Given the description of an element on the screen output the (x, y) to click on. 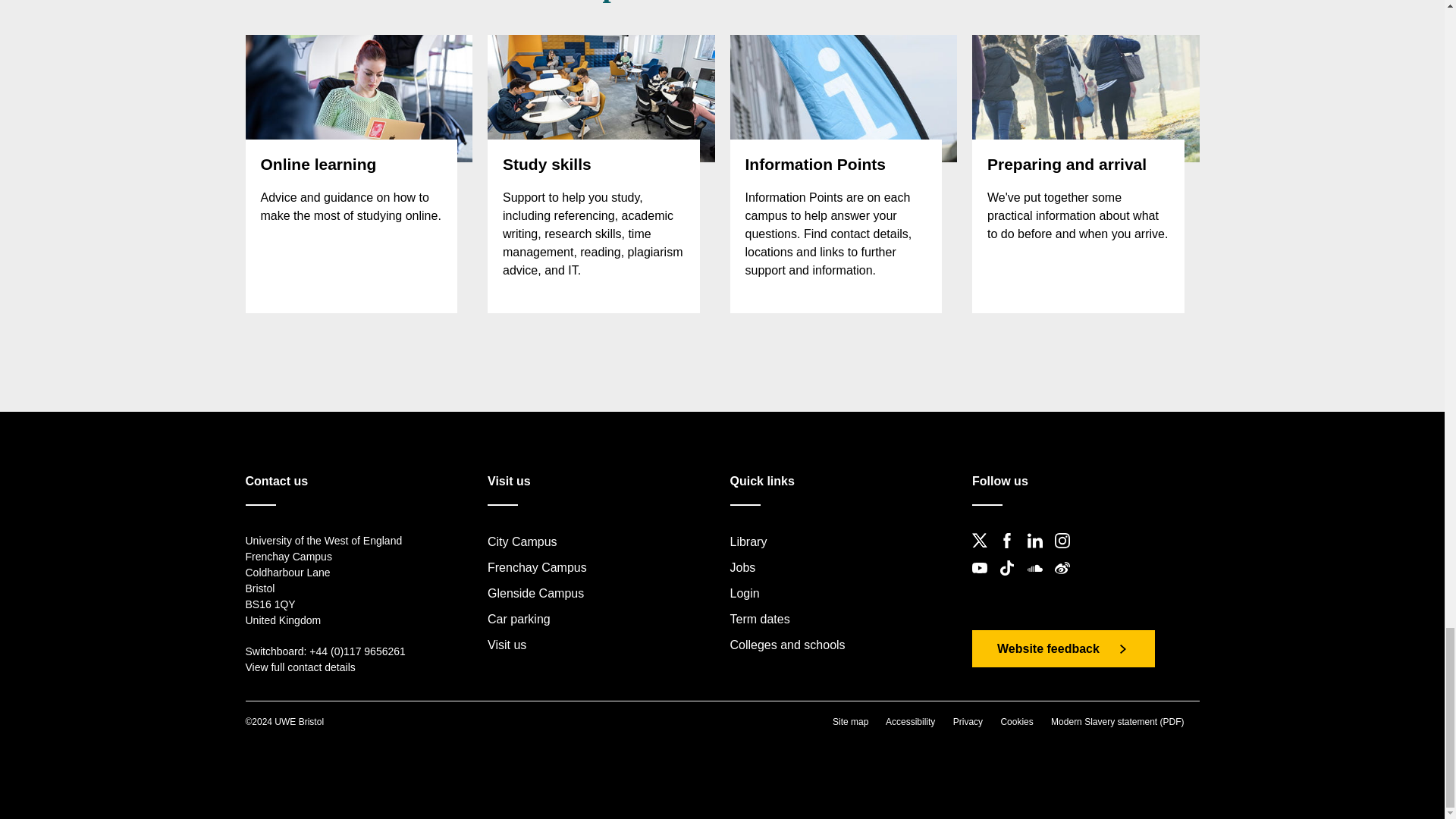
YouTube (983, 580)
Weibo (1066, 580)
LinkedIn (1039, 553)
TikTok (1010, 580)
Instagram (1066, 553)
Twitter (983, 553)
SoundCloud (1039, 580)
Facebook (1010, 553)
